Given the description of an element on the screen output the (x, y) to click on. 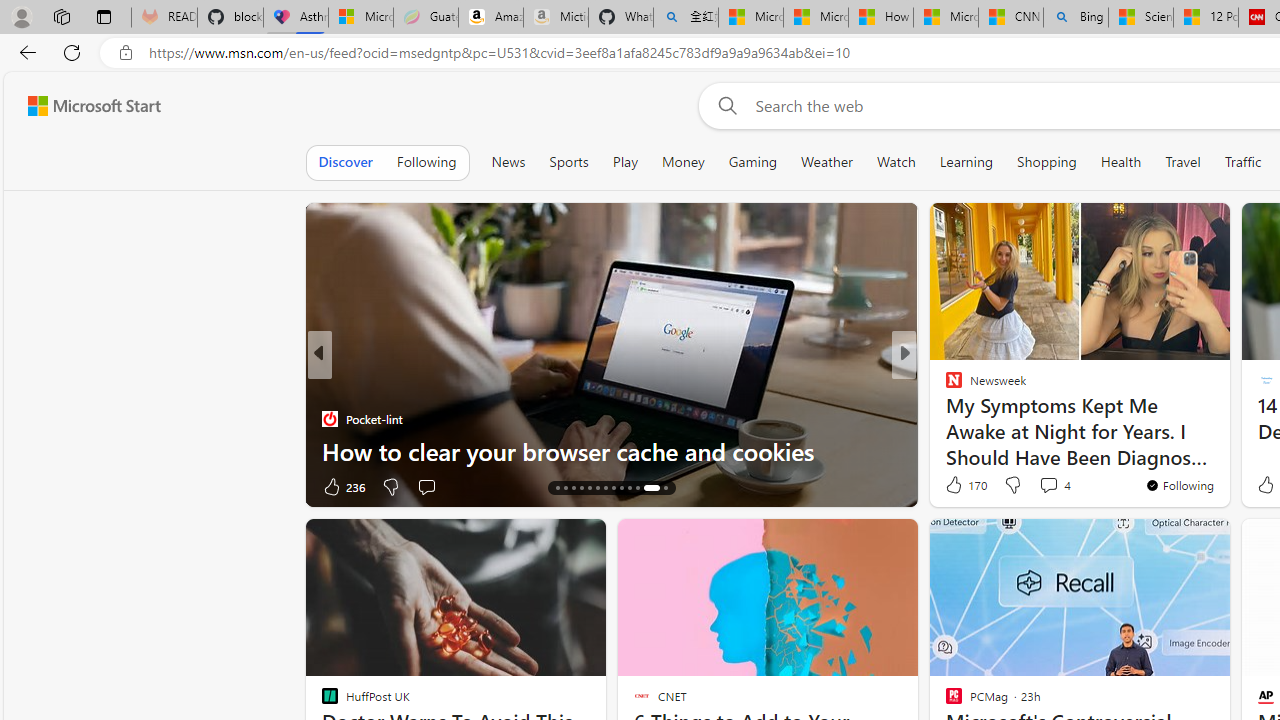
AutomationID: tab-25 (647, 487)
170 Like (964, 484)
Weather (826, 162)
Weather (826, 161)
Following (426, 162)
AutomationID: tab-17 (581, 487)
AutomationID: tab-19 (596, 487)
636 Like (342, 486)
See more (1205, 542)
Travel (1183, 161)
Learning (965, 161)
Health (1121, 161)
